Given the description of an element on the screen output the (x, y) to click on. 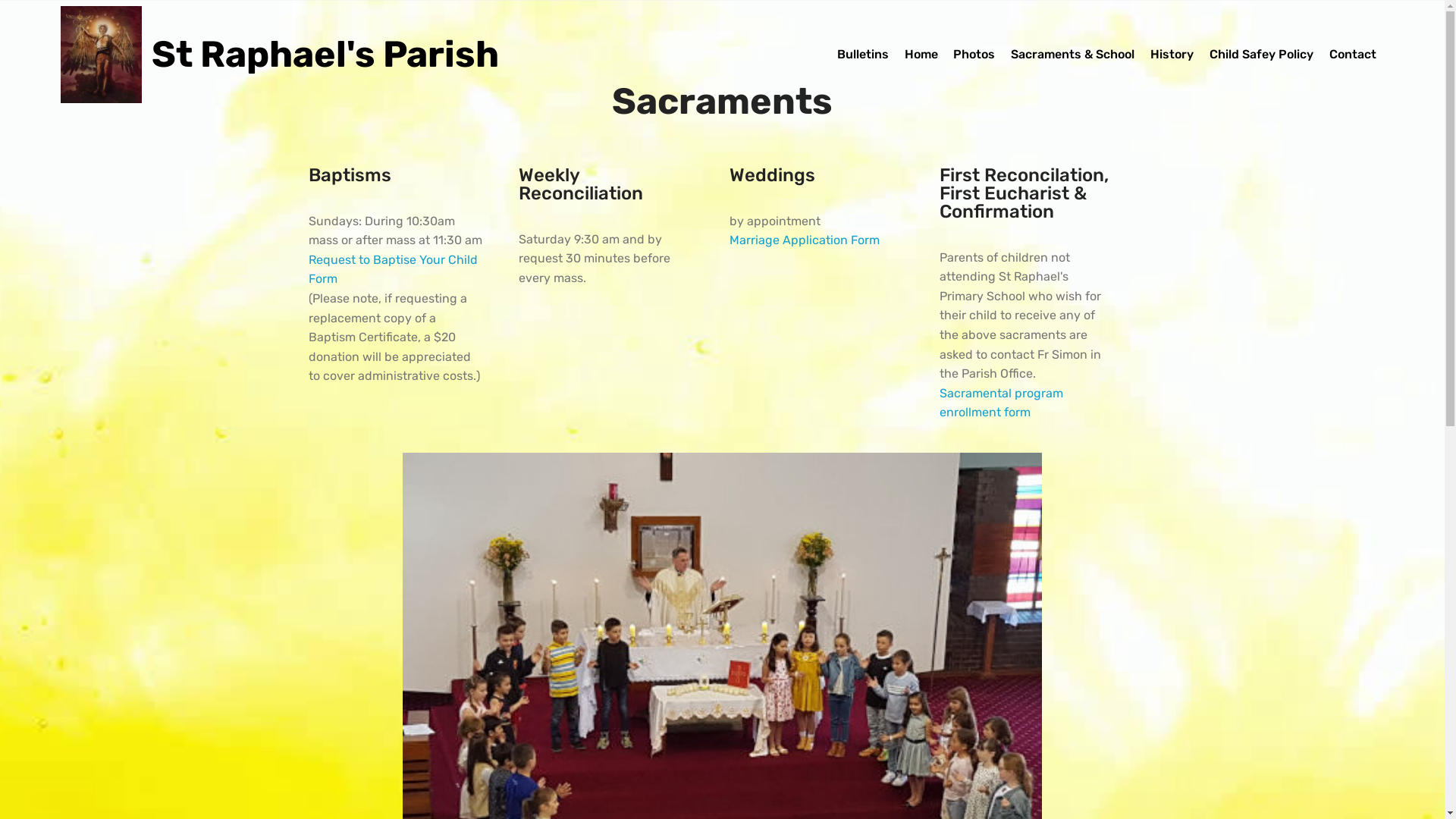
Request to Baptise Your Child Form Element type: text (391, 269)
Home Element type: text (921, 54)
Child Safey Policy Element type: text (1261, 54)
Marriage Application Form Element type: text (804, 239)
St Raphael's Parish Element type: text (337, 54)
Bulletins Element type: text (862, 54)
Sacraments & School Element type: text (1072, 54)
History Element type: text (1171, 54)
Photos Element type: text (973, 54)
Contact Element type: text (1352, 54)
Sacramental program enrollment form Element type: text (1001, 402)
